Given the description of an element on the screen output the (x, y) to click on. 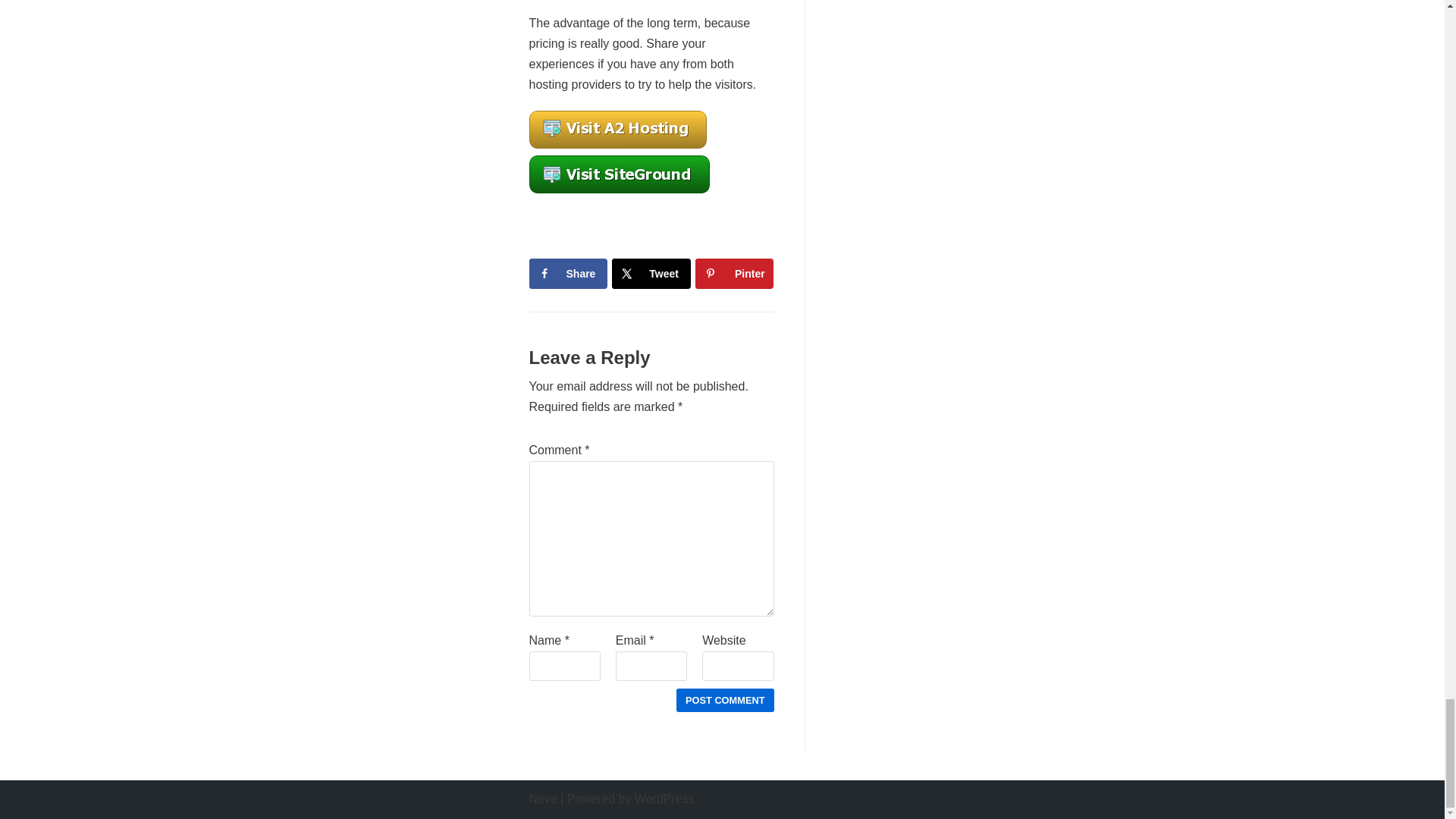
Save to Pinterest (734, 273)
Share on X (650, 273)
Share on Facebook (568, 273)
Post Comment (725, 699)
